Given the description of an element on the screen output the (x, y) to click on. 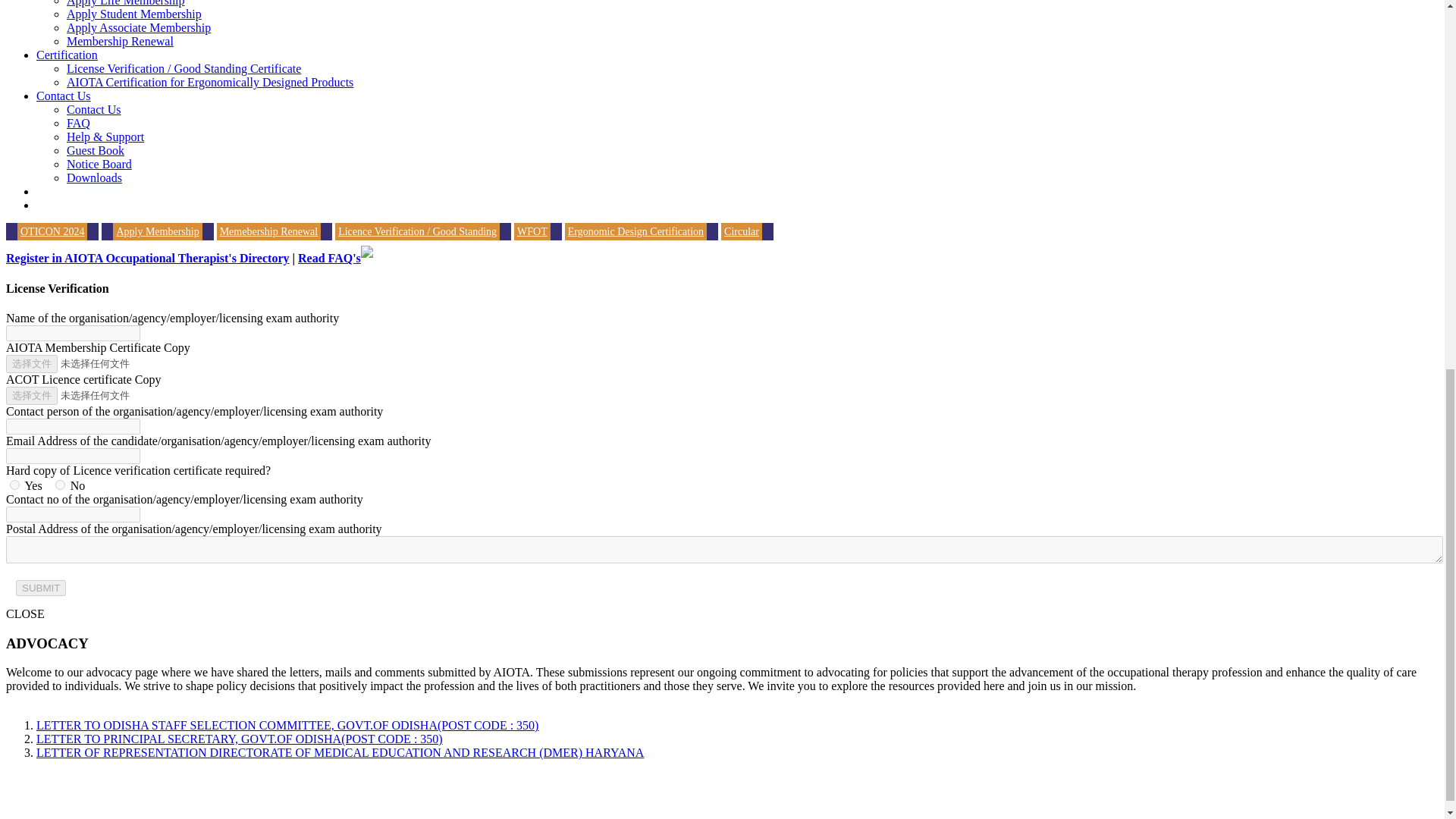
ofline (60, 484)
online (15, 484)
SUBMIT (40, 587)
